Given the description of an element on the screen output the (x, y) to click on. 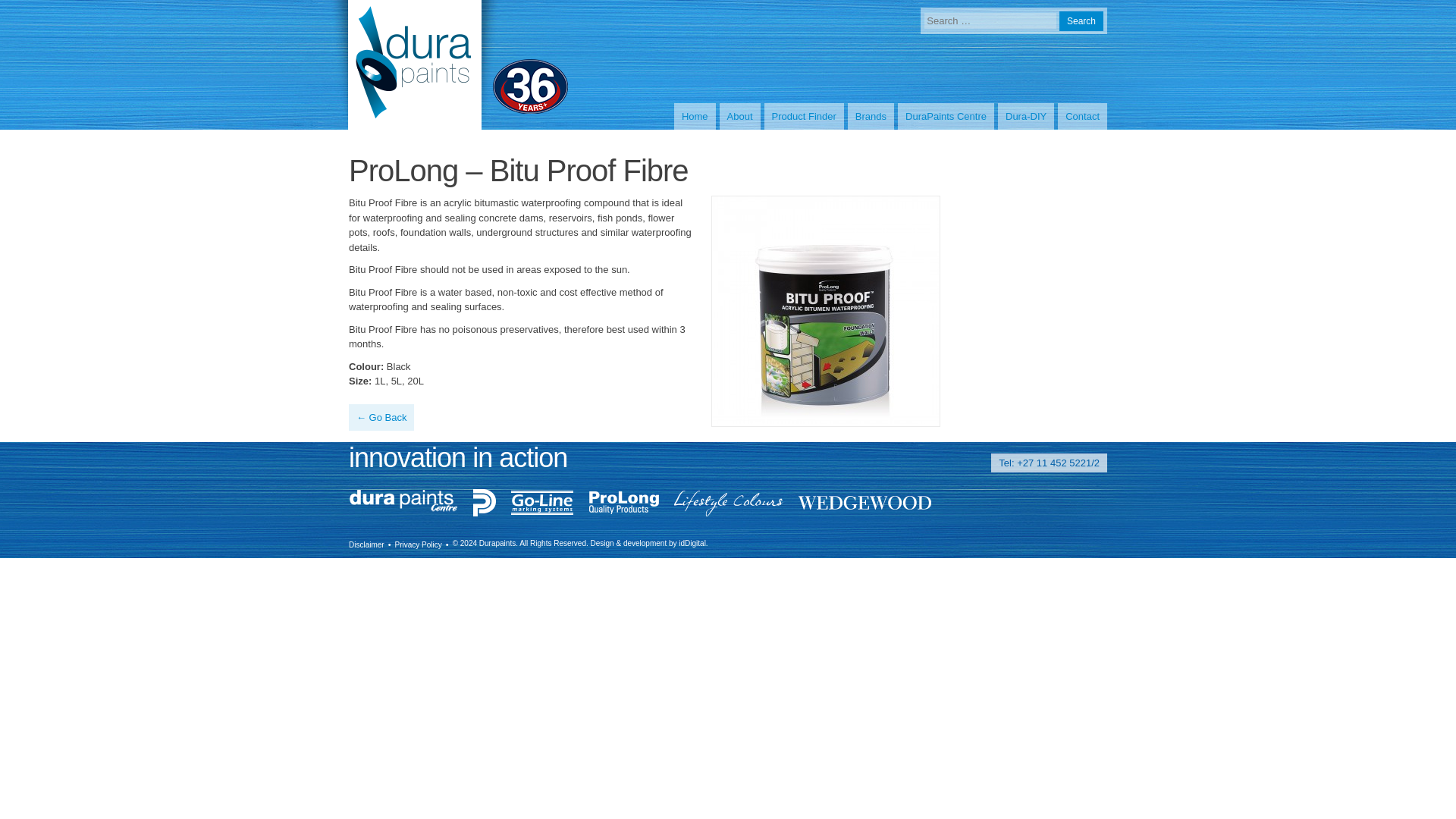
Home (695, 116)
Brands (870, 116)
Search (1081, 21)
idDigital (692, 542)
Search (1081, 21)
Product Finder (804, 116)
Disclaimer (366, 543)
Privacy Policy (418, 543)
Search (1081, 21)
DuraPaints Centre (946, 116)
Contact (1082, 116)
About (739, 116)
Dura-DIY (1025, 116)
